Given the description of an element on the screen output the (x, y) to click on. 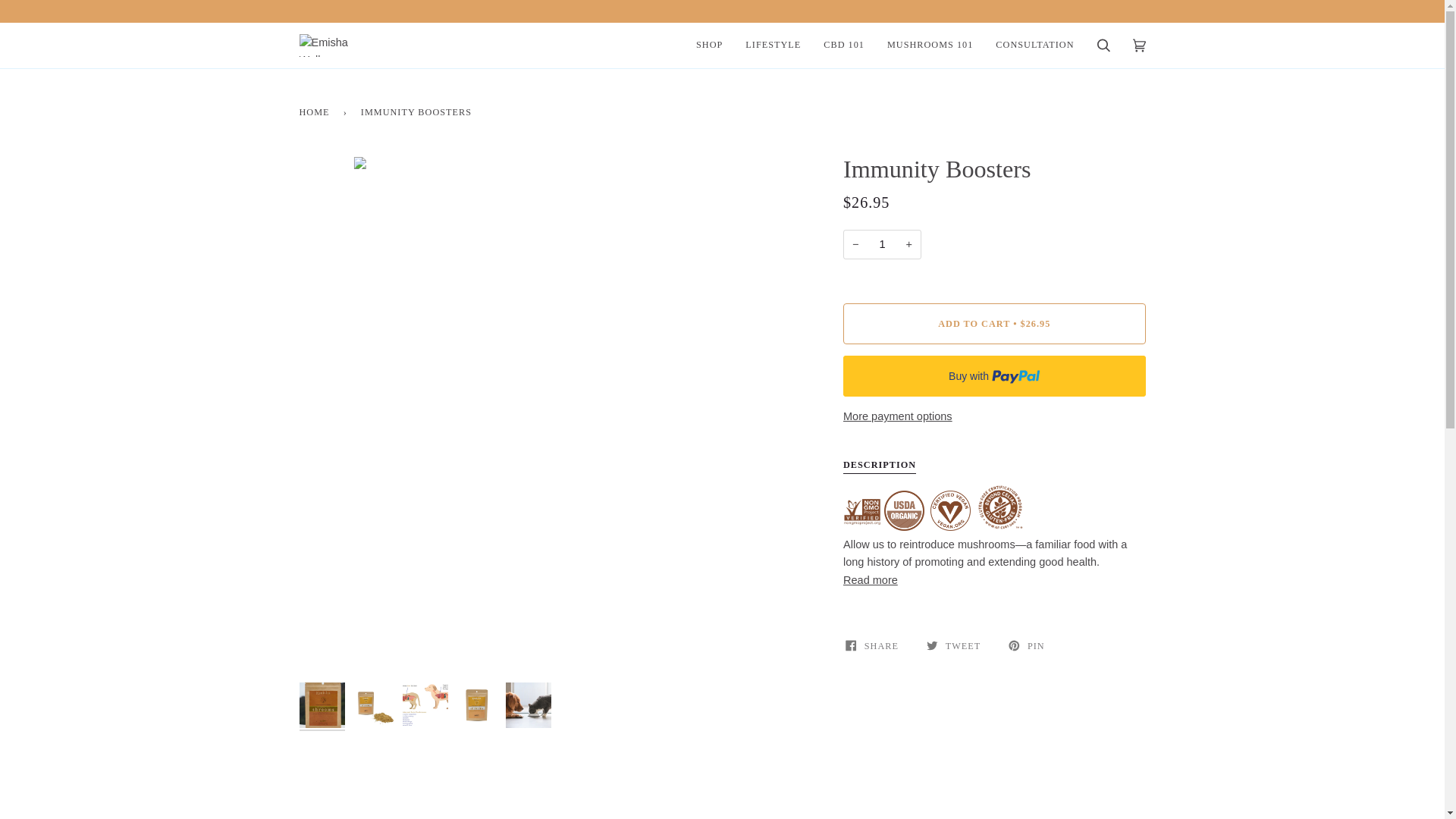
1 (882, 244)
CONSULTATION (1034, 44)
CBD 101 (844, 44)
LIFESTYLE (772, 44)
Back to the frontpage (316, 112)
SHOP (708, 44)
MUSHROOMS 101 (930, 44)
